Given the description of an element on the screen output the (x, y) to click on. 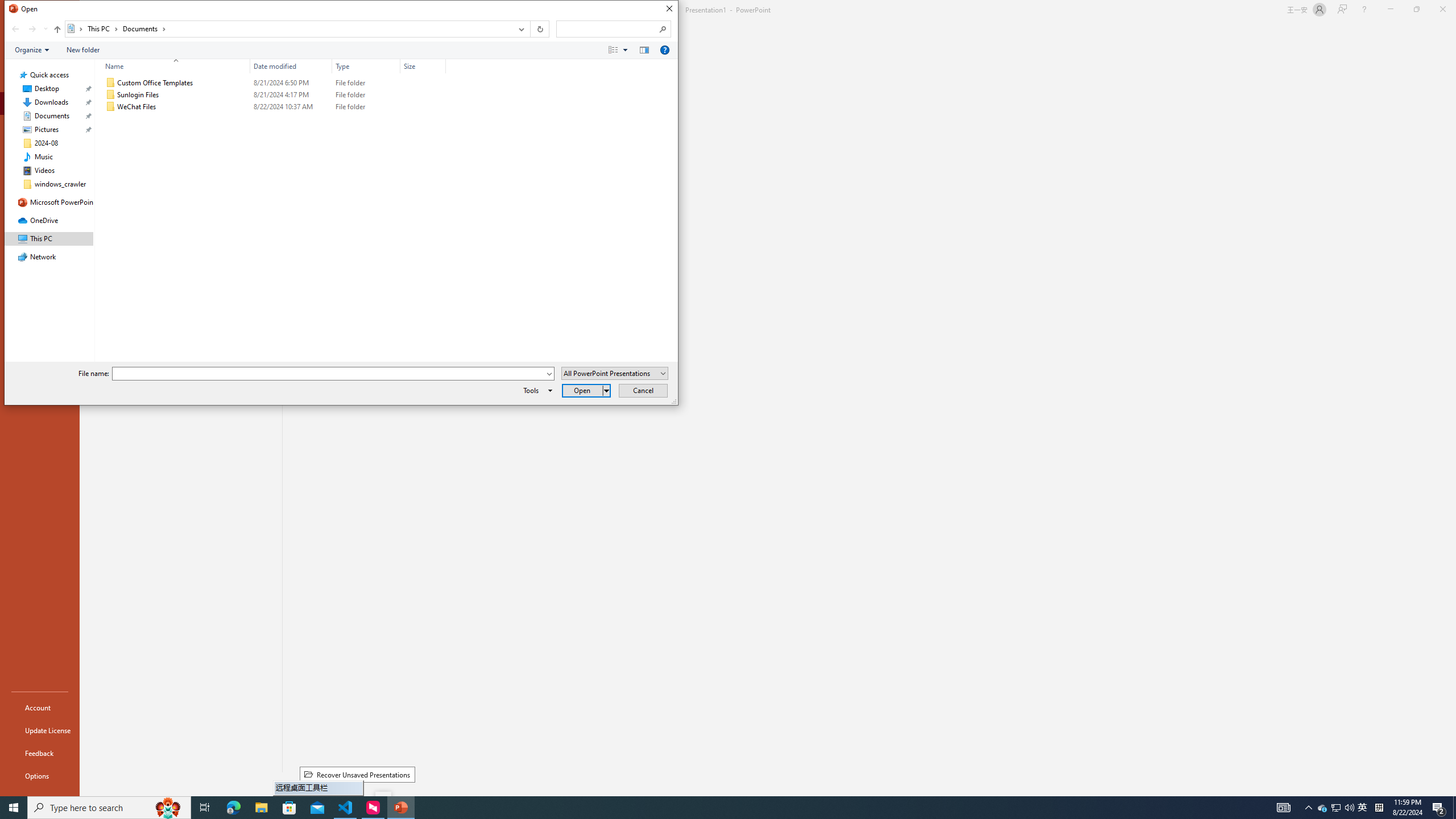
Name (183, 106)
Forward (Alt + Right Arrow) (31, 28)
Preview pane (644, 49)
Account (40, 707)
Update License (40, 730)
Size (422, 65)
Up band toolbar (57, 30)
View Slider (625, 49)
Sunlogin Files (273, 94)
File name: (329, 373)
Recover Unsaved Presentations (356, 774)
